Given the description of an element on the screen output the (x, y) to click on. 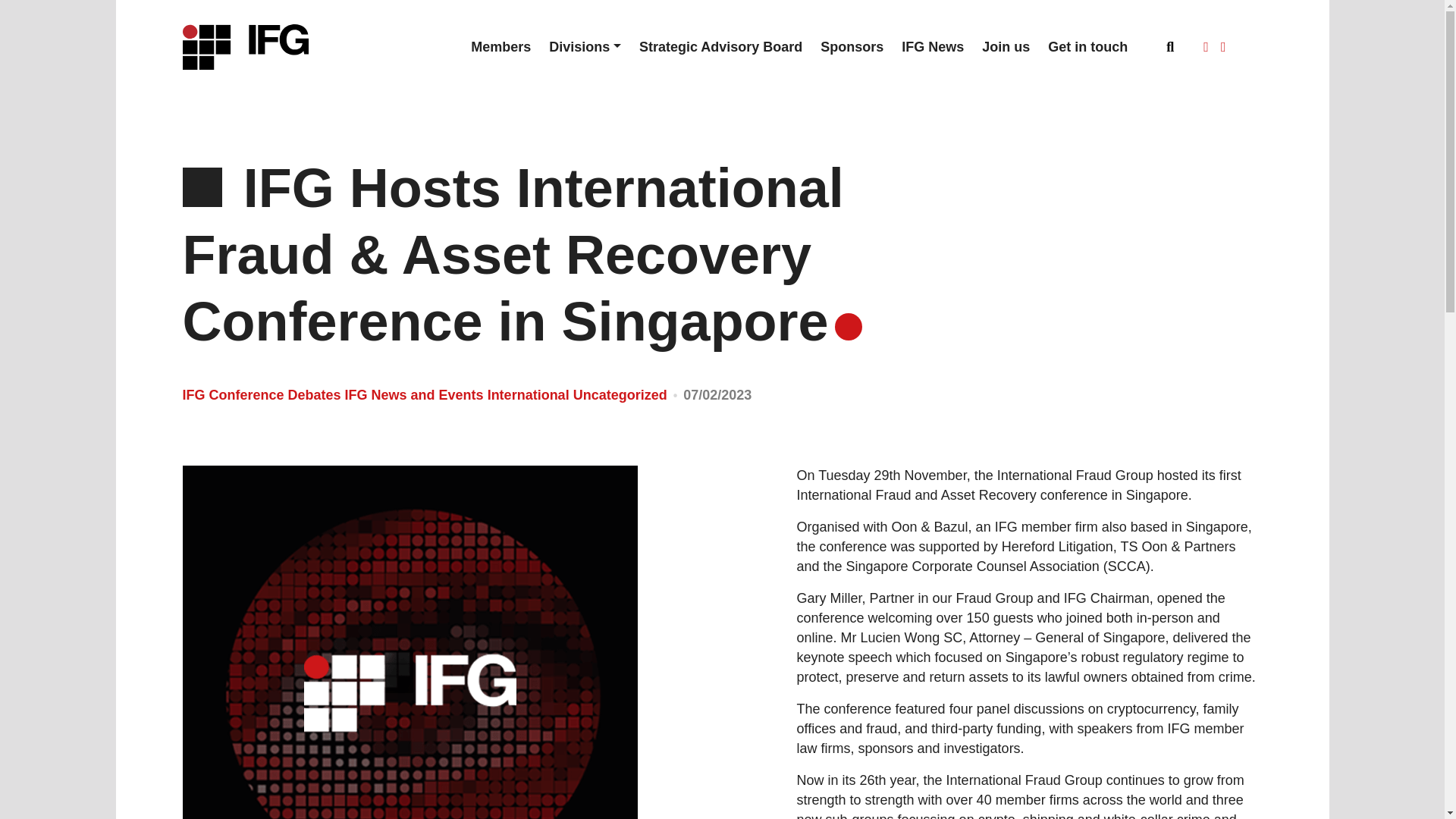
Join us (1005, 46)
Get in touch (1088, 46)
Join us (1005, 46)
Strategic Advisory Board (720, 46)
IFG News and Events (416, 394)
Members (500, 46)
IFG News (932, 46)
Get in touch (1088, 46)
Members (500, 46)
Divisions (585, 46)
Strategic Advisory Board (720, 46)
Uncategorized (619, 394)
Sponsors (851, 46)
IFG News (932, 46)
IFG Conference Debates (262, 394)
